Given the description of an element on the screen output the (x, y) to click on. 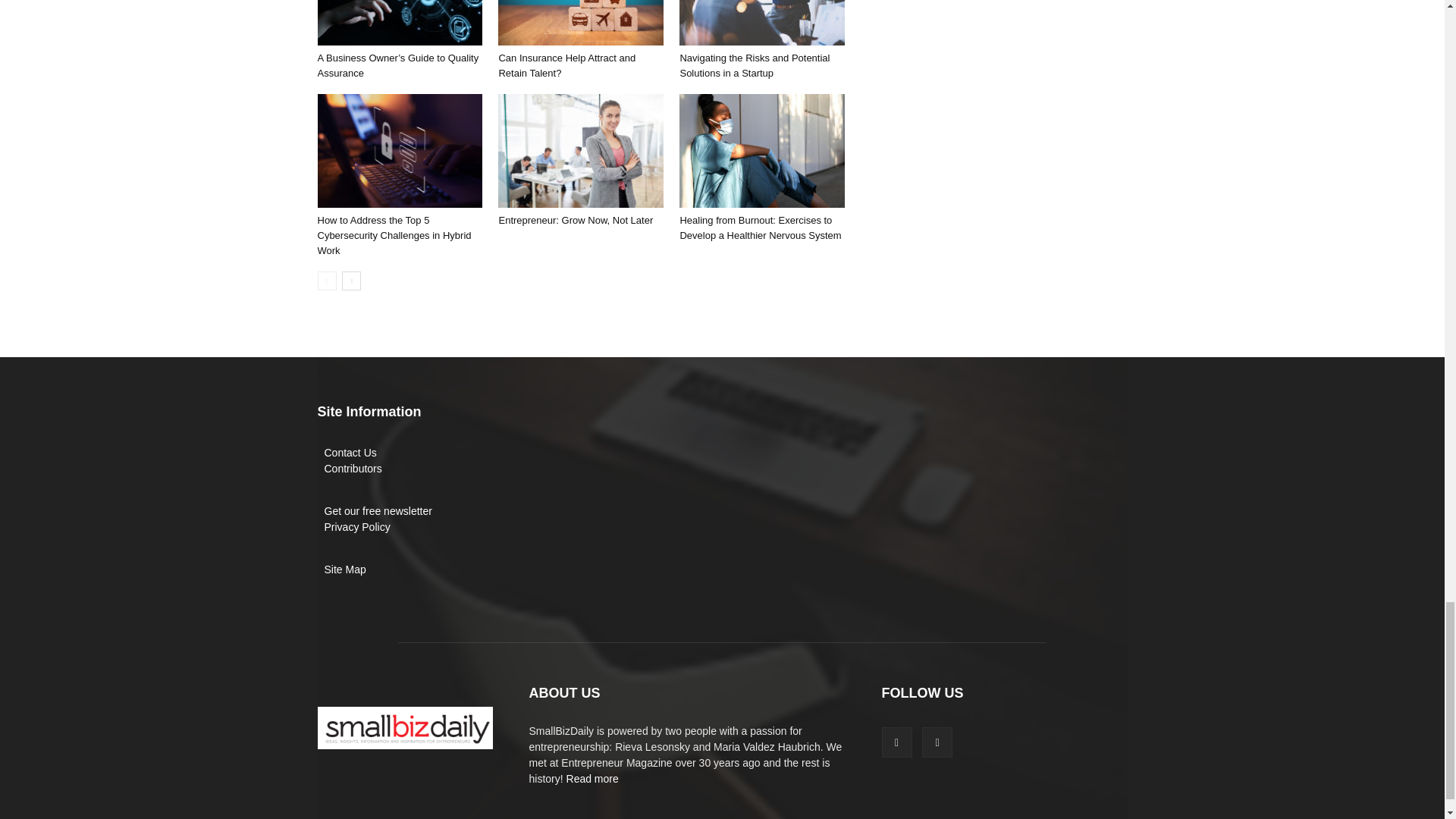
Navigating the Risks and Potential Solutions in a Startup (754, 65)
Can Insurance Help Attract and Retain Talent? (565, 65)
Entrepreneur: Grow Now, Not Later (580, 151)
Can Insurance Help Attract and Retain Talent? (580, 22)
Navigating the Risks and Potential Solutions in a Startup (761, 22)
